Given the description of an element on the screen output the (x, y) to click on. 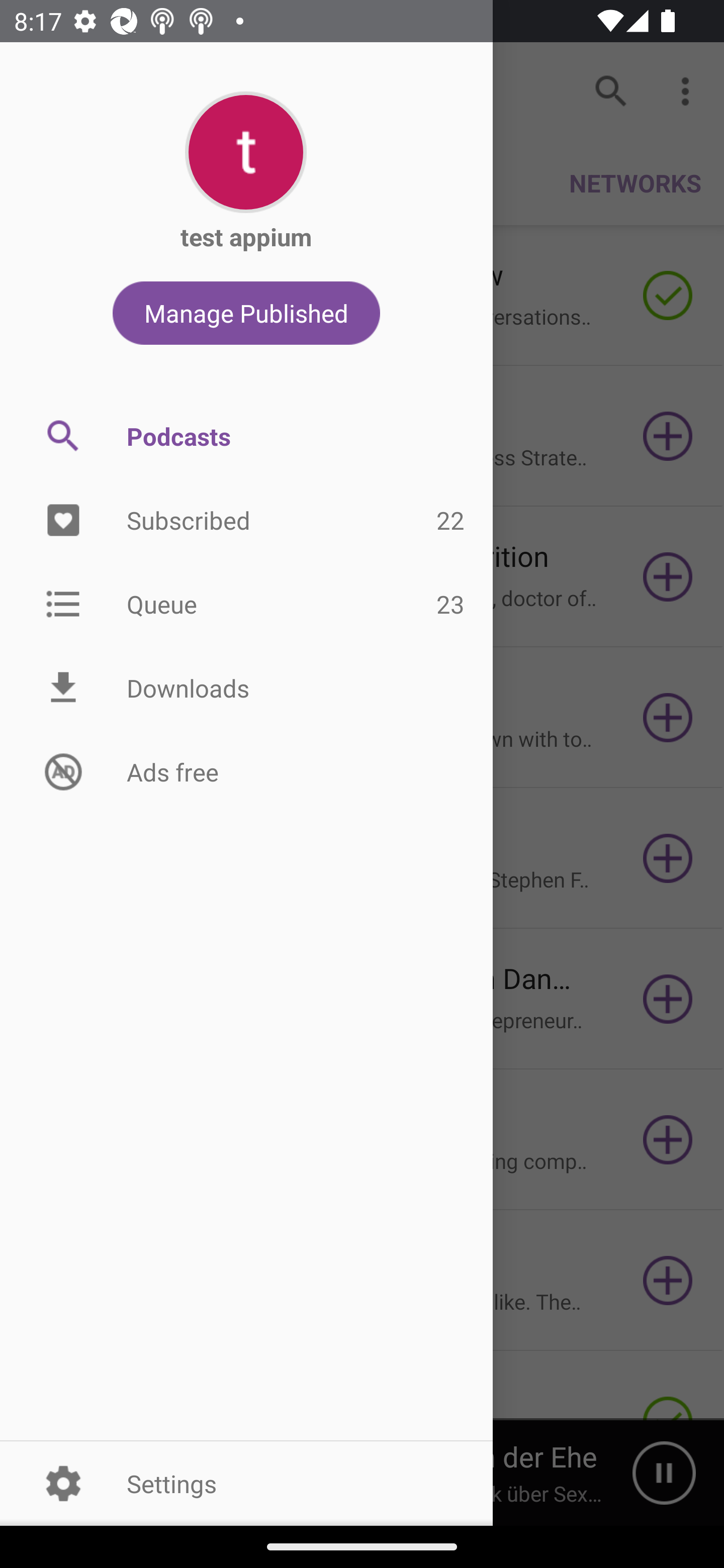
Manage Published (246, 312)
Picture Podcasts (246, 435)
Picture Subscribed 22 (246, 520)
Picture Queue 23 (246, 603)
Picture Downloads (246, 688)
Picture Ads free (246, 771)
Settings Picture Settings (246, 1482)
